Given the description of an element on the screen output the (x, y) to click on. 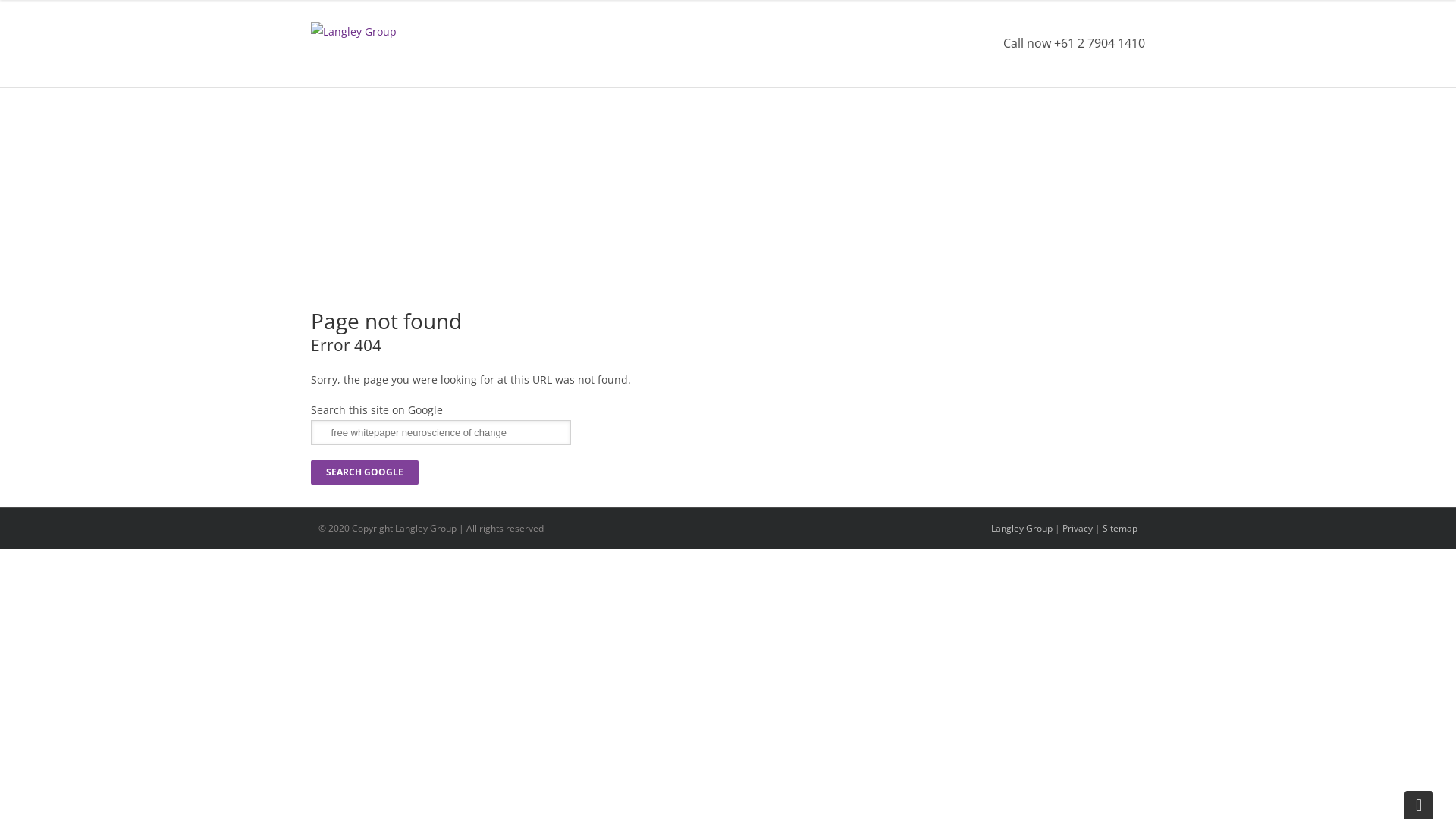
Sitemap Element type: text (1119, 527)
Langley Group Element type: text (1021, 527)
+61 2 7904 1410 Element type: text (1099, 42)
Langley Group Element type: hover (353, 31)
Privacy Element type: text (1077, 527)
SEARCH GOOGLE Element type: text (364, 472)
